Given the description of an element on the screen output the (x, y) to click on. 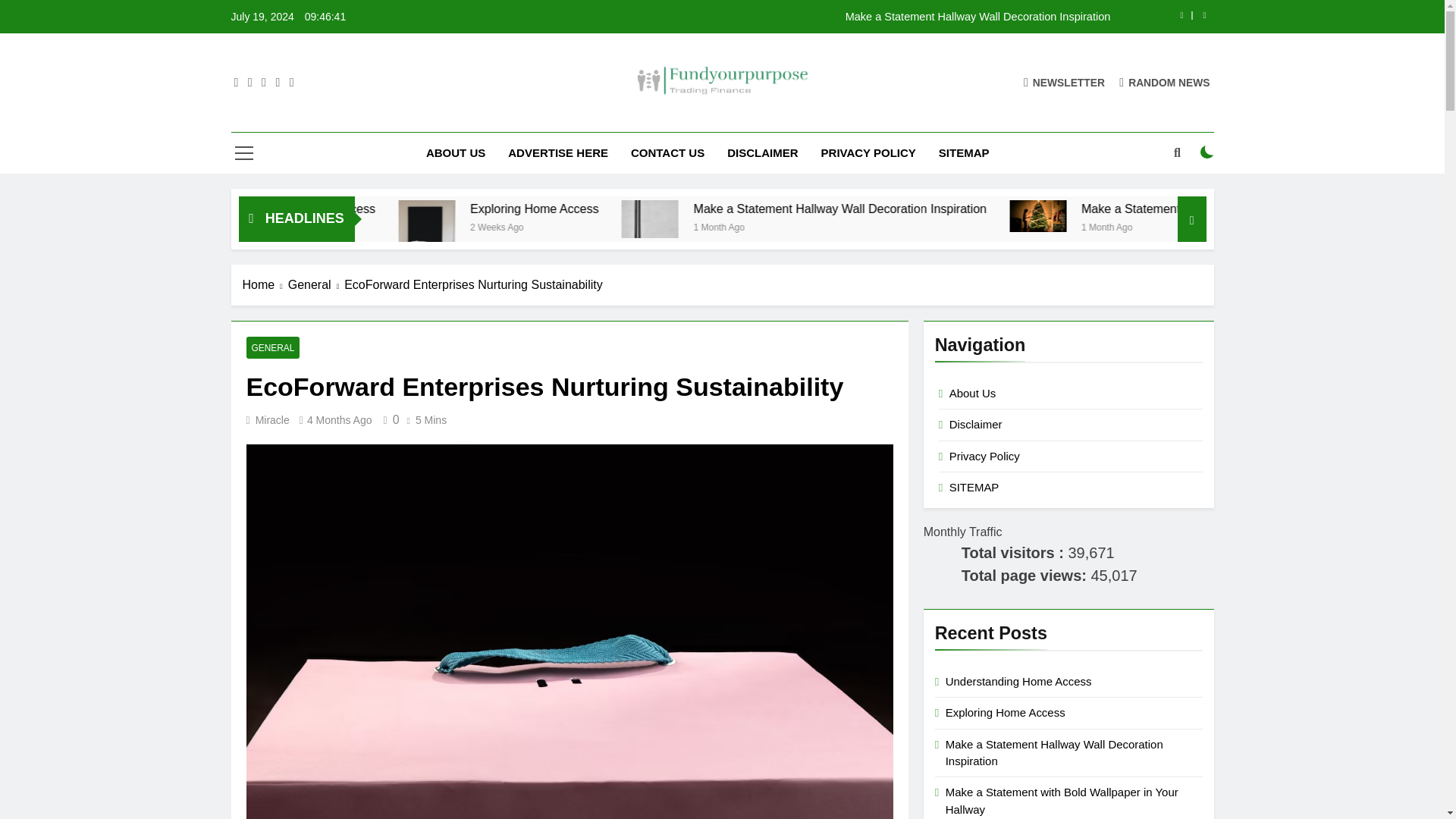
PRIVACY POLICY (868, 152)
ABOUT US (455, 152)
Exploring Home Access (555, 242)
Exploring Home Access (658, 208)
Make a Statement Hallway Wall Decoration Inspiration (983, 208)
SITEMAP (964, 152)
Make a Statement Hallway Wall Decoration Inspiration (817, 16)
Understanding Home Access (427, 208)
NEWSLETTER (1064, 82)
1 Month Ago (860, 226)
Exploring Home Access (684, 208)
CONTACT US (668, 152)
on (1206, 151)
2 Weeks Ago (644, 226)
Fundyourpurpose (612, 118)
